Given the description of an element on the screen output the (x, y) to click on. 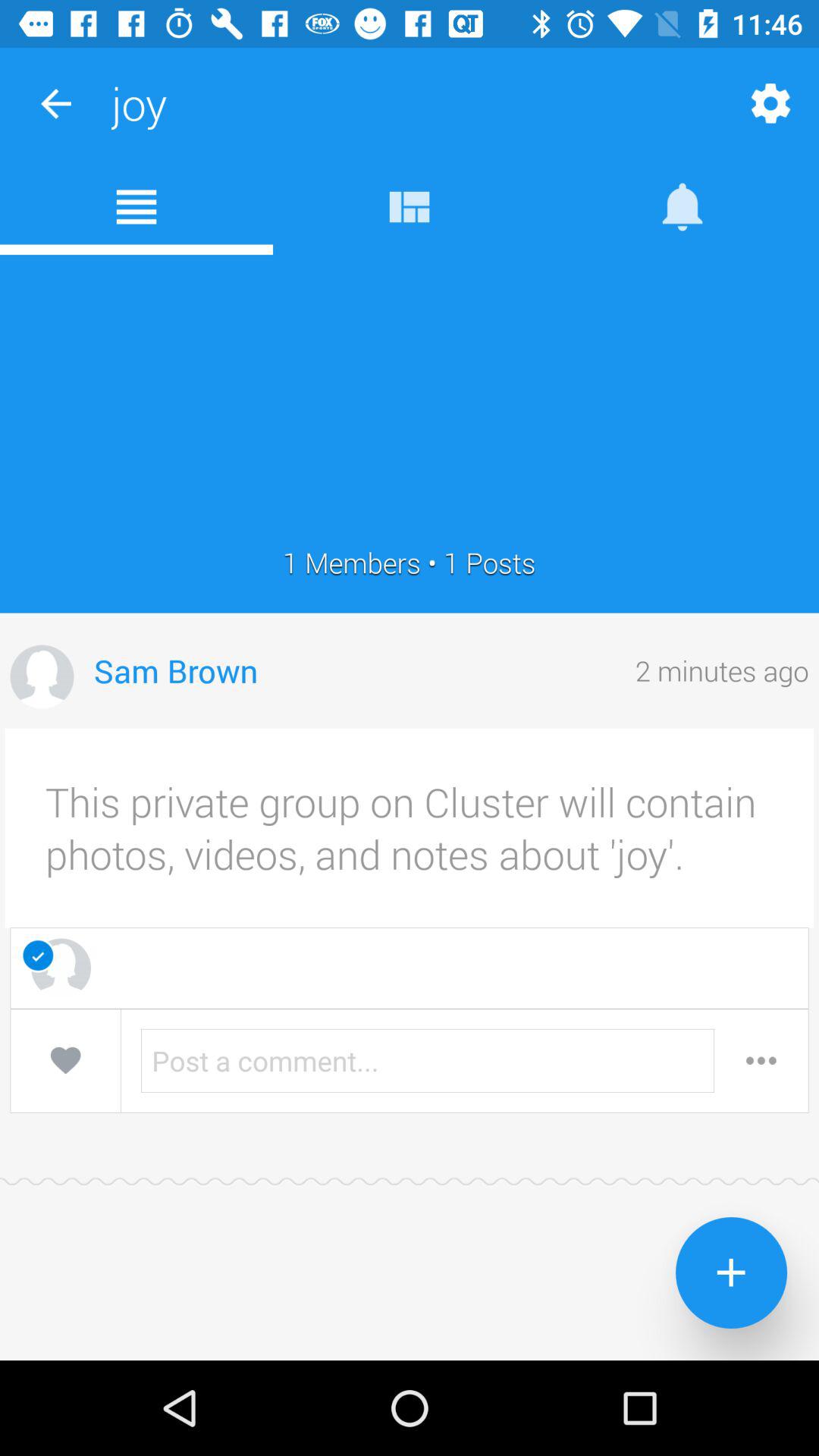
go to search (761, 1060)
